Given the description of an element on the screen output the (x, y) to click on. 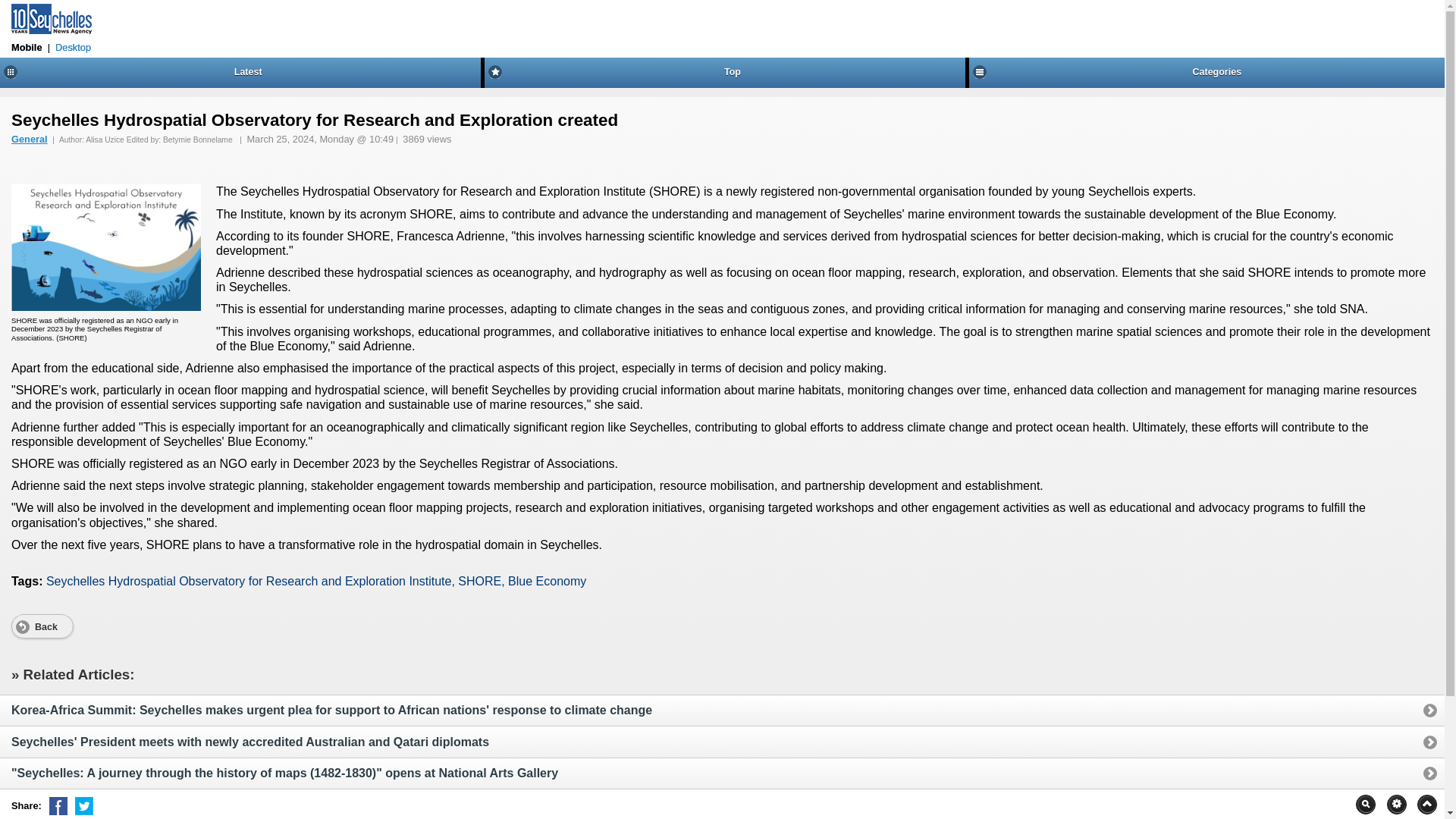
Login (14, 6)
